Given the description of an element on the screen output the (x, y) to click on. 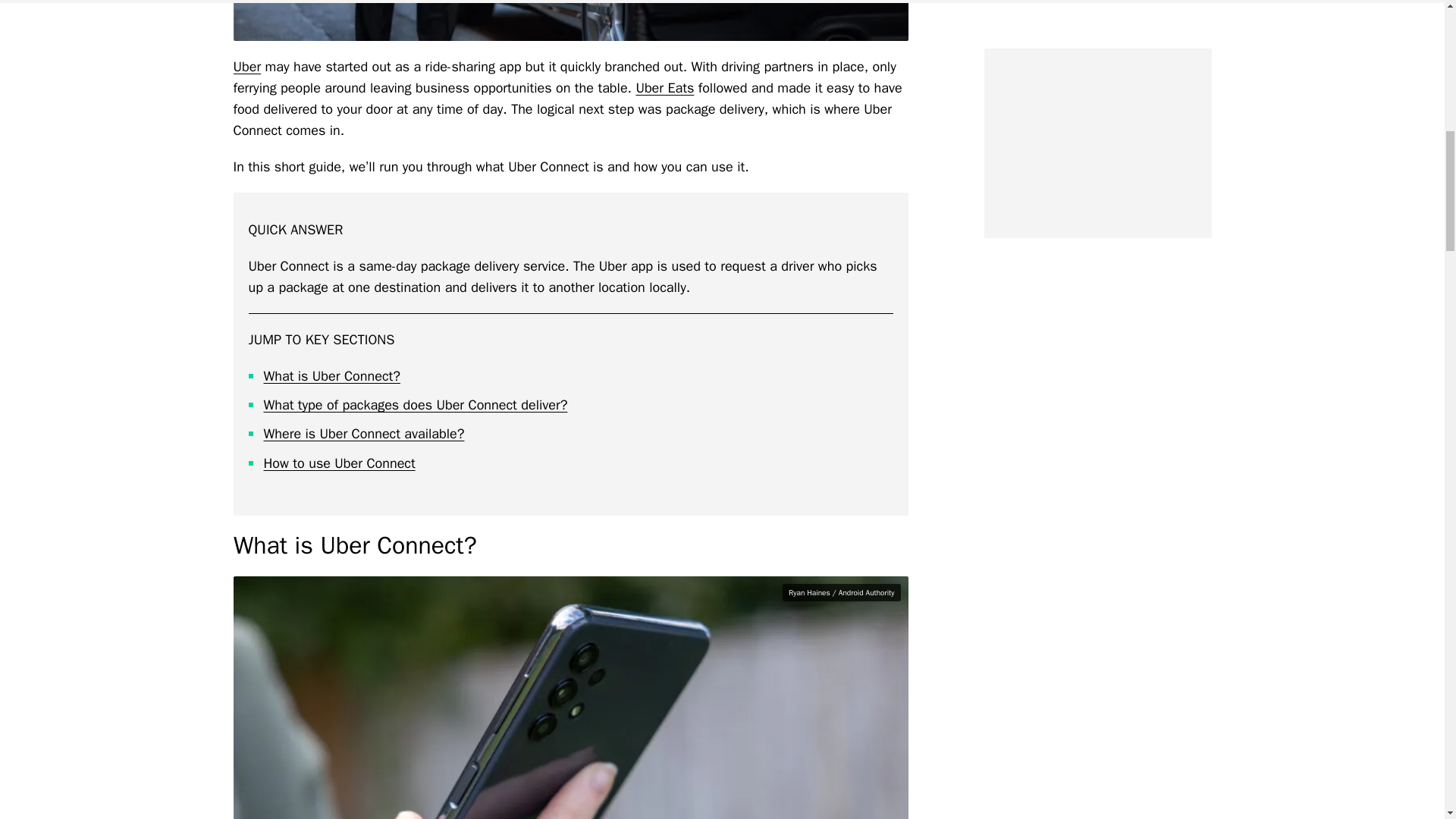
Uber Eats (664, 87)
Uber (247, 66)
Where is Uber Connect available? (363, 433)
Uber Black driver standing next to car (570, 20)
How to use Uber Connect (338, 463)
What is Uber Connect? (331, 375)
What type of packages does Uber Connect deliver? (415, 404)
